Given the description of an element on the screen output the (x, y) to click on. 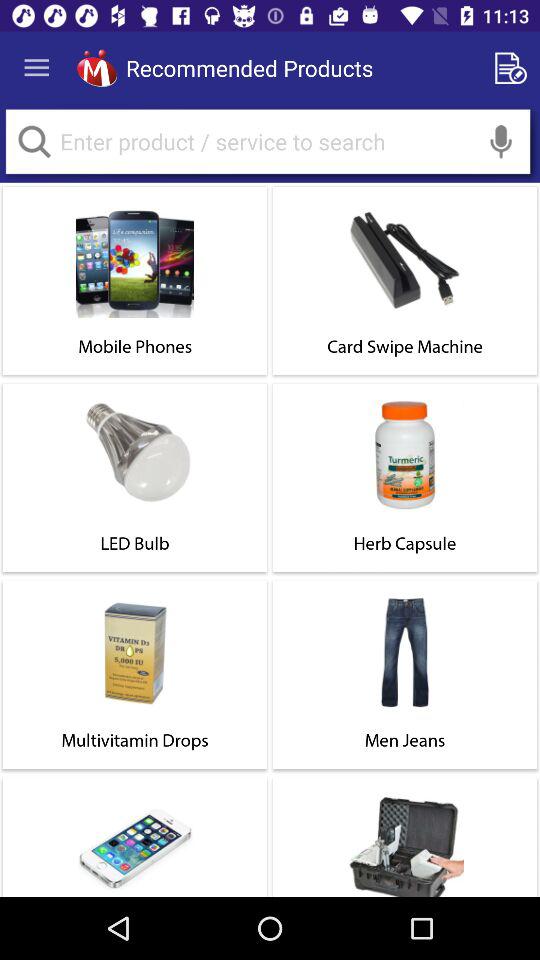
search (267, 141)
